Given the description of an element on the screen output the (x, y) to click on. 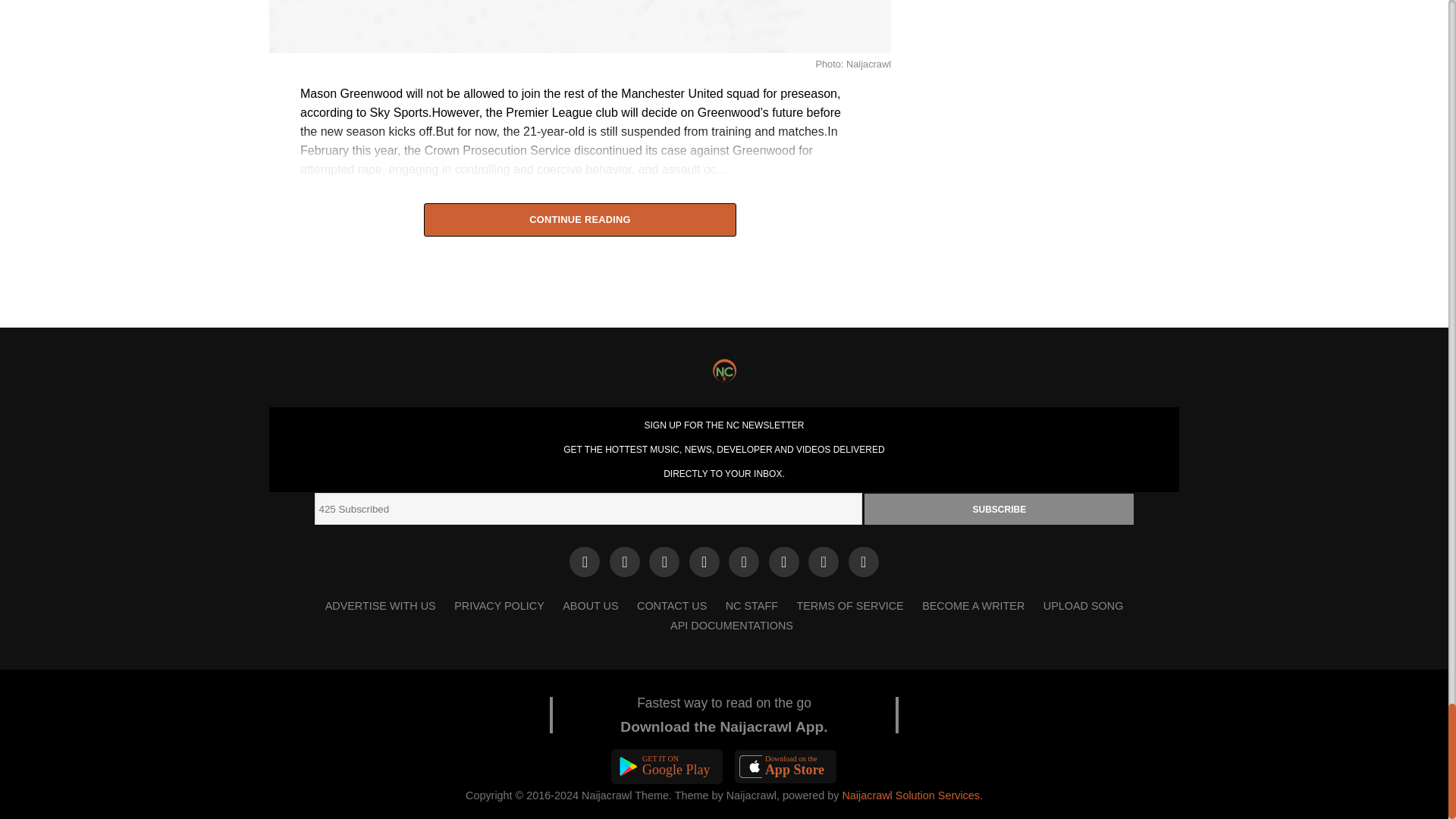
Subscribe (999, 508)
App Store (785, 766)
Google Play (667, 766)
